Given the description of an element on the screen output the (x, y) to click on. 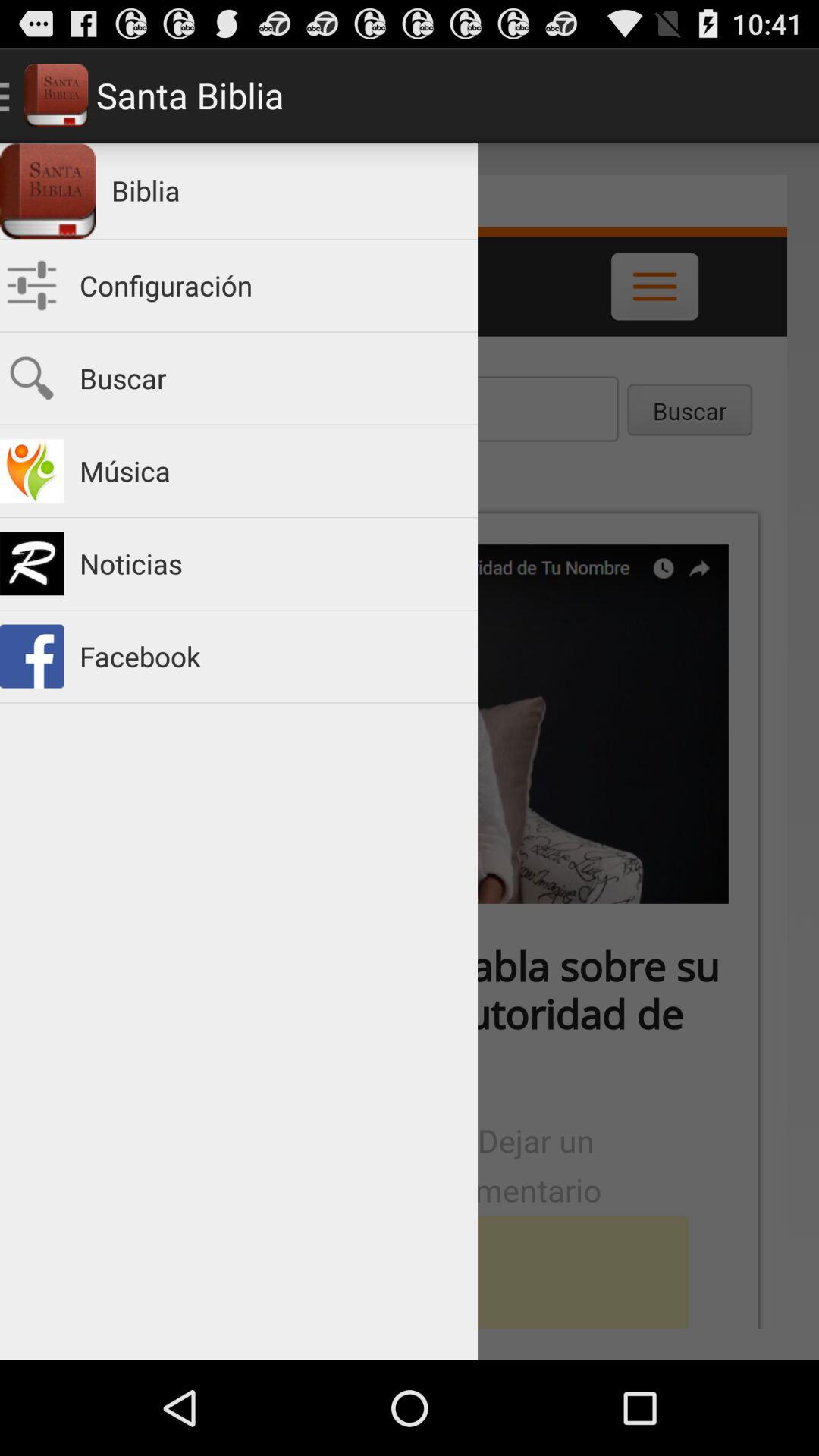
choose buscar (270, 378)
